Given the description of an element on the screen output the (x, y) to click on. 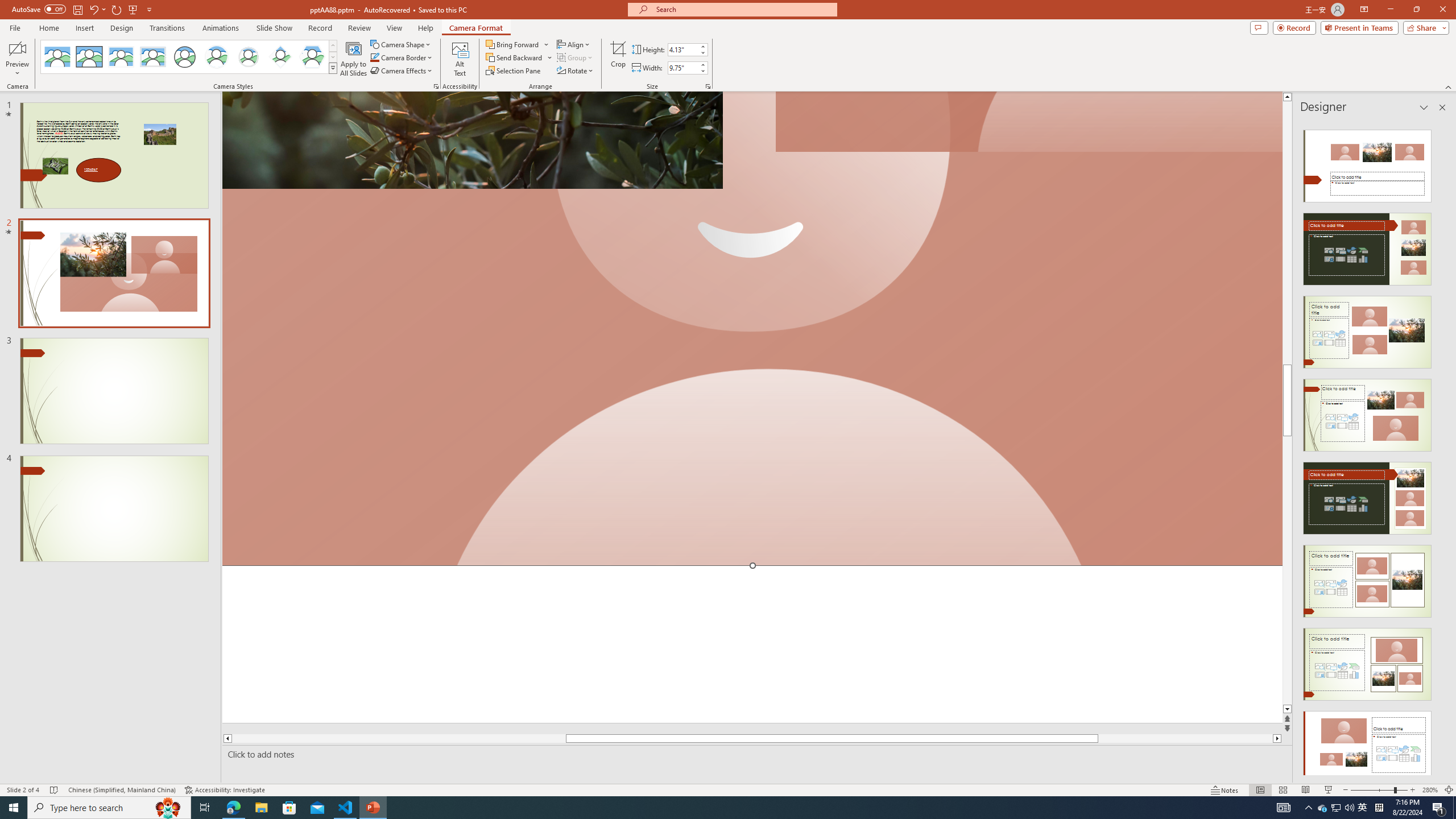
Camera Border Teal, Accent 1 (374, 56)
Camera Border (401, 56)
AutomationID: CameoStylesGallery (189, 56)
More (702, 64)
Alt Text (459, 58)
